Given the description of an element on the screen output the (x, y) to click on. 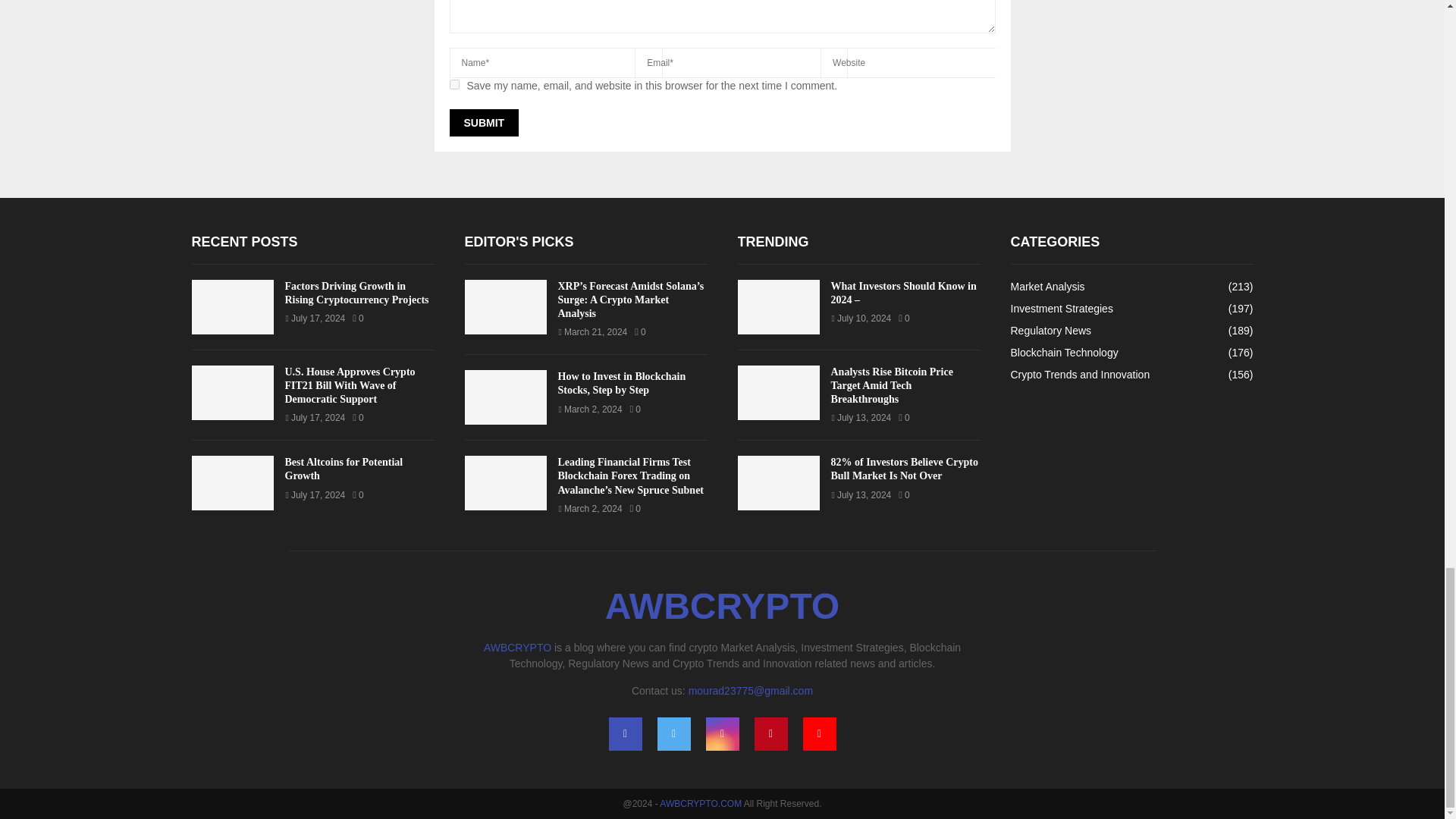
yes (453, 84)
Submit (483, 122)
